Given the description of an element on the screen output the (x, y) to click on. 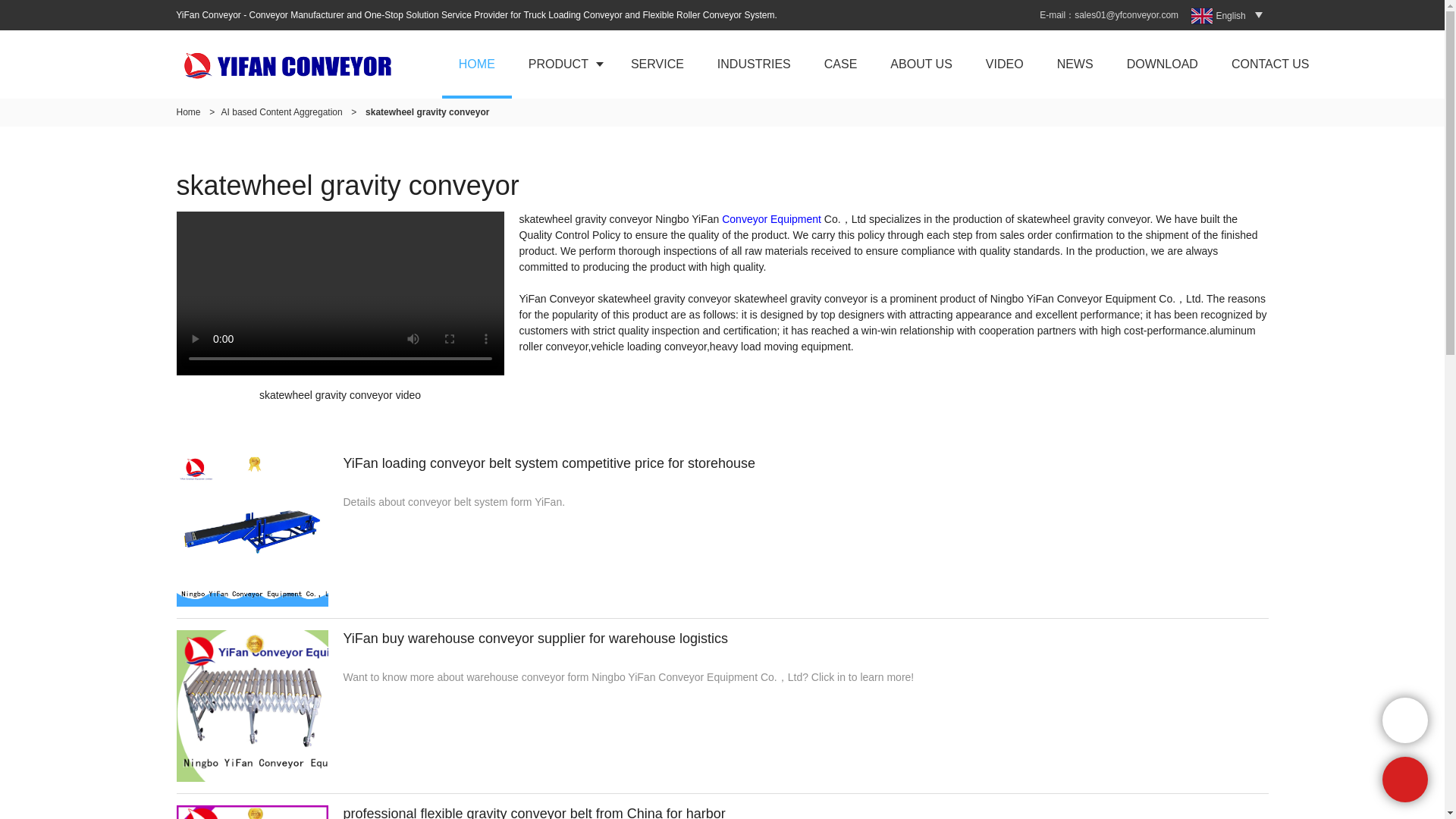
ABOUT US (921, 64)
AI based Content Aggregation (281, 112)
CASE (841, 64)
NEWS (1075, 64)
HOME (477, 64)
VIDEO (1005, 64)
DOWNLOAD (1161, 64)
SERVICE (657, 64)
